Given the description of an element on the screen output the (x, y) to click on. 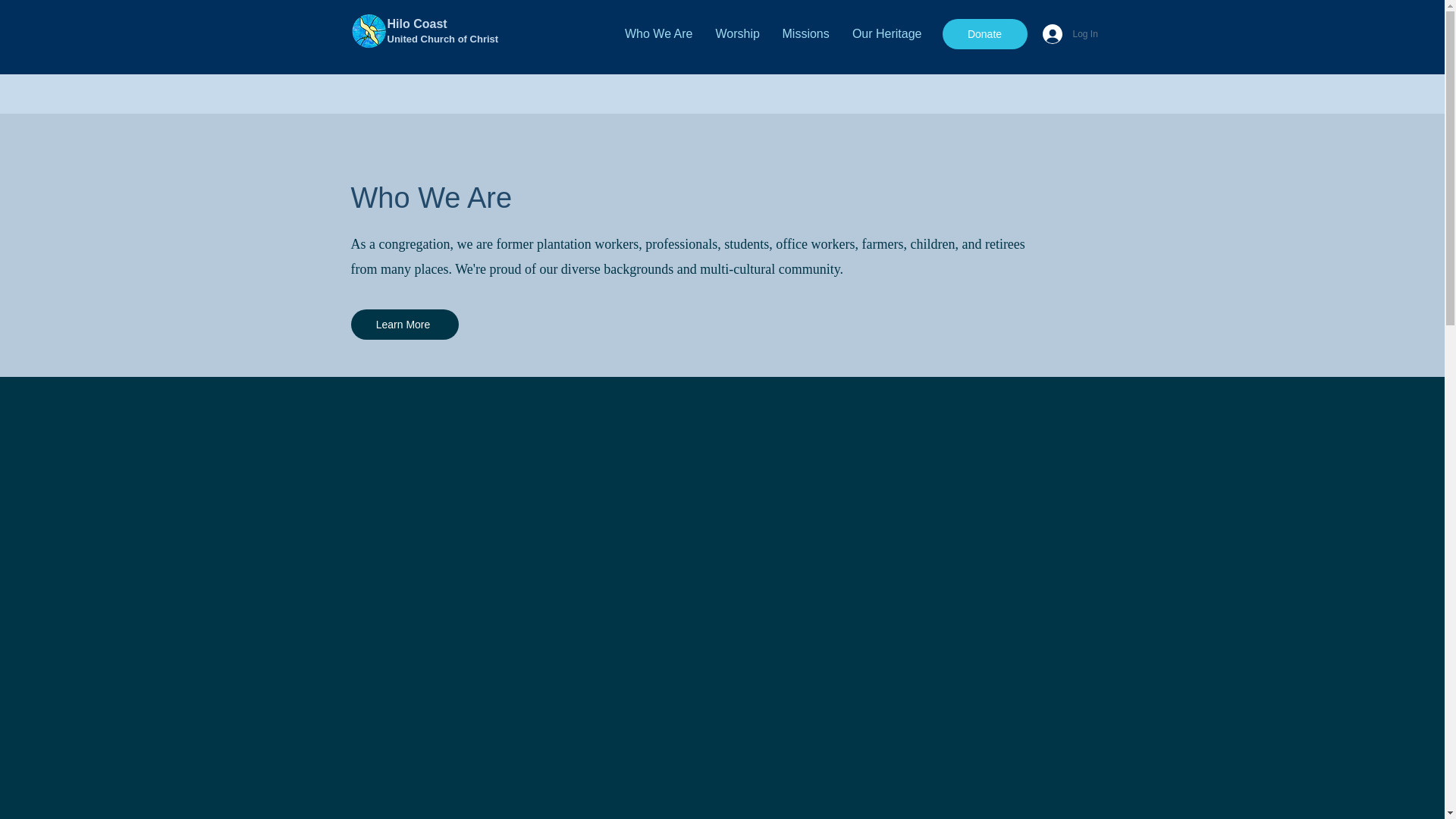
Give (68, 19)
Donate (984, 33)
Log In (1063, 33)
Learn More (404, 324)
